Given the description of an element on the screen output the (x, y) to click on. 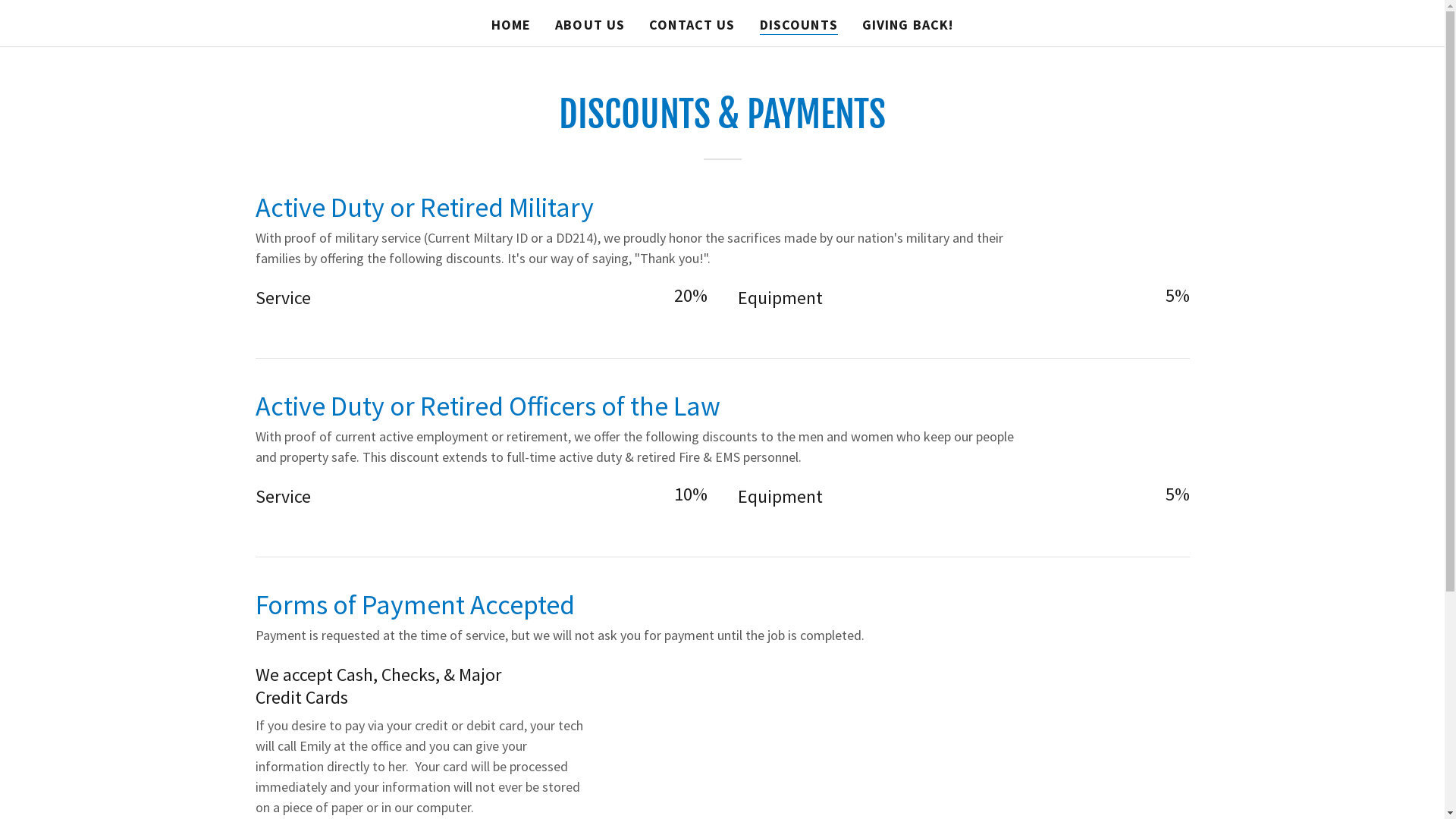
DISCOUNTS Element type: text (798, 24)
HOME Element type: text (511, 24)
ABOUT US Element type: text (589, 24)
CONTACT US Element type: text (691, 24)
GIVING BACK! Element type: text (907, 24)
